Given the description of an element on the screen output the (x, y) to click on. 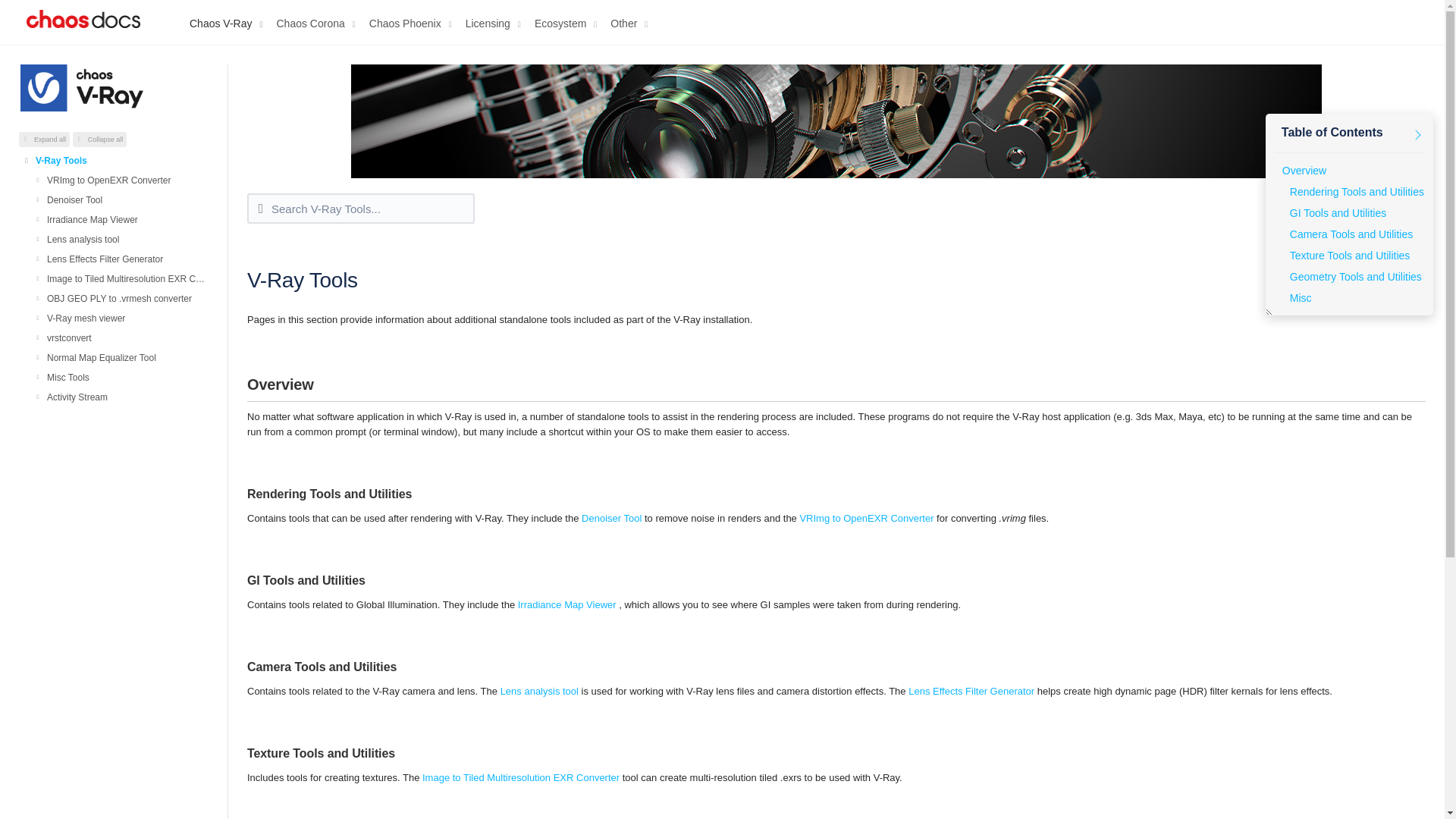
Other (631, 19)
Lens analysis tool (127, 238)
Denoiser Tool (127, 199)
Image to Tiled Multiresolution EXR Converter (127, 278)
Denoiser Tool (127, 199)
Expand all (43, 139)
VRImg to OpenEXR Converter (127, 179)
V-Ray Tools (121, 159)
Chaos Corona (318, 19)
V-Ray Tools (121, 159)
